Given the description of an element on the screen output the (x, y) to click on. 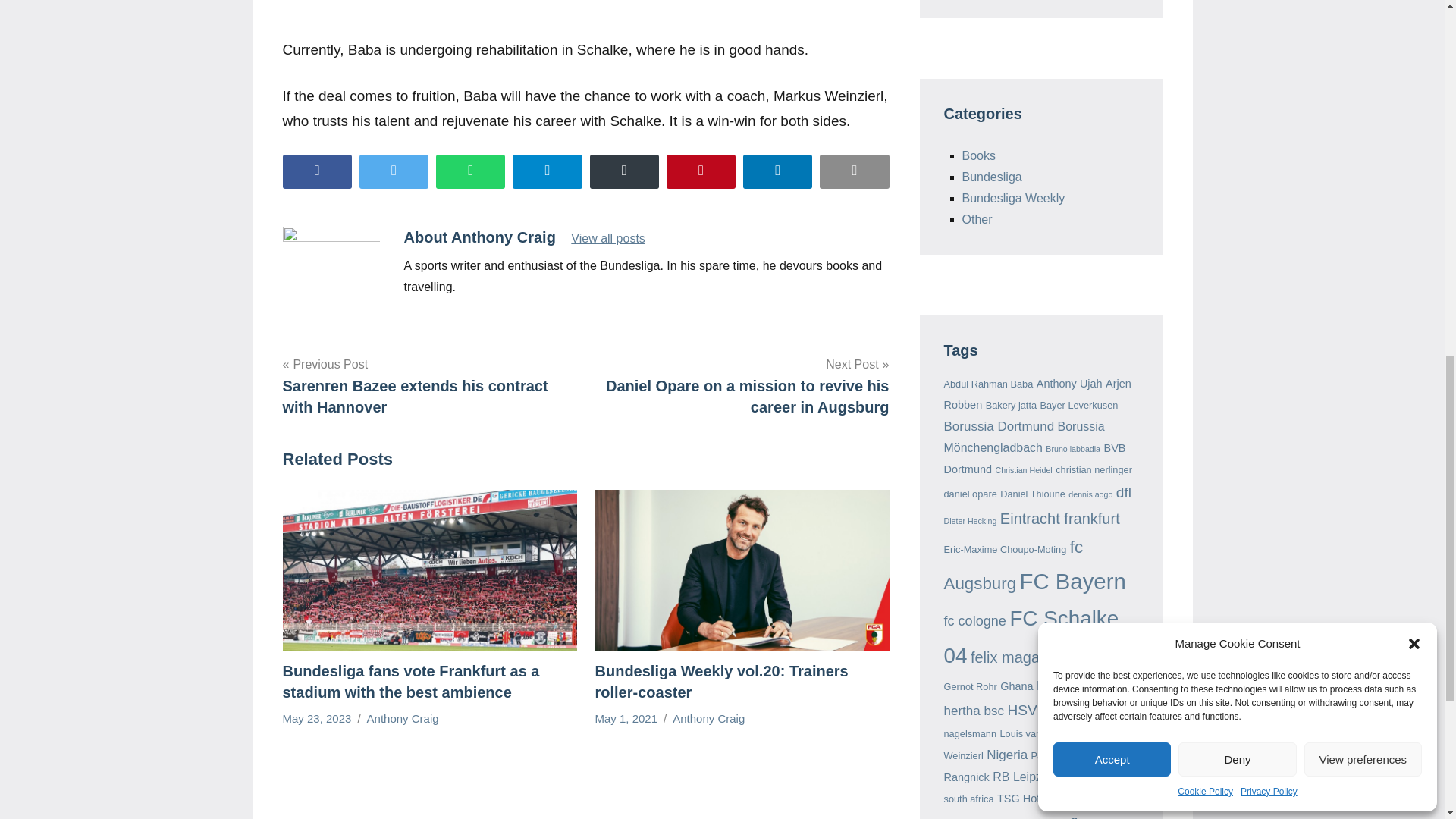
Twitter (393, 171)
Telegram (546, 171)
View all posts by Anthony Craig (708, 717)
16:36 (316, 717)
WhatsApp (470, 171)
7:53 (626, 717)
View all posts by Anthony Craig (402, 717)
Facebook (316, 171)
Buffer (624, 171)
